Given the description of an element on the screen output the (x, y) to click on. 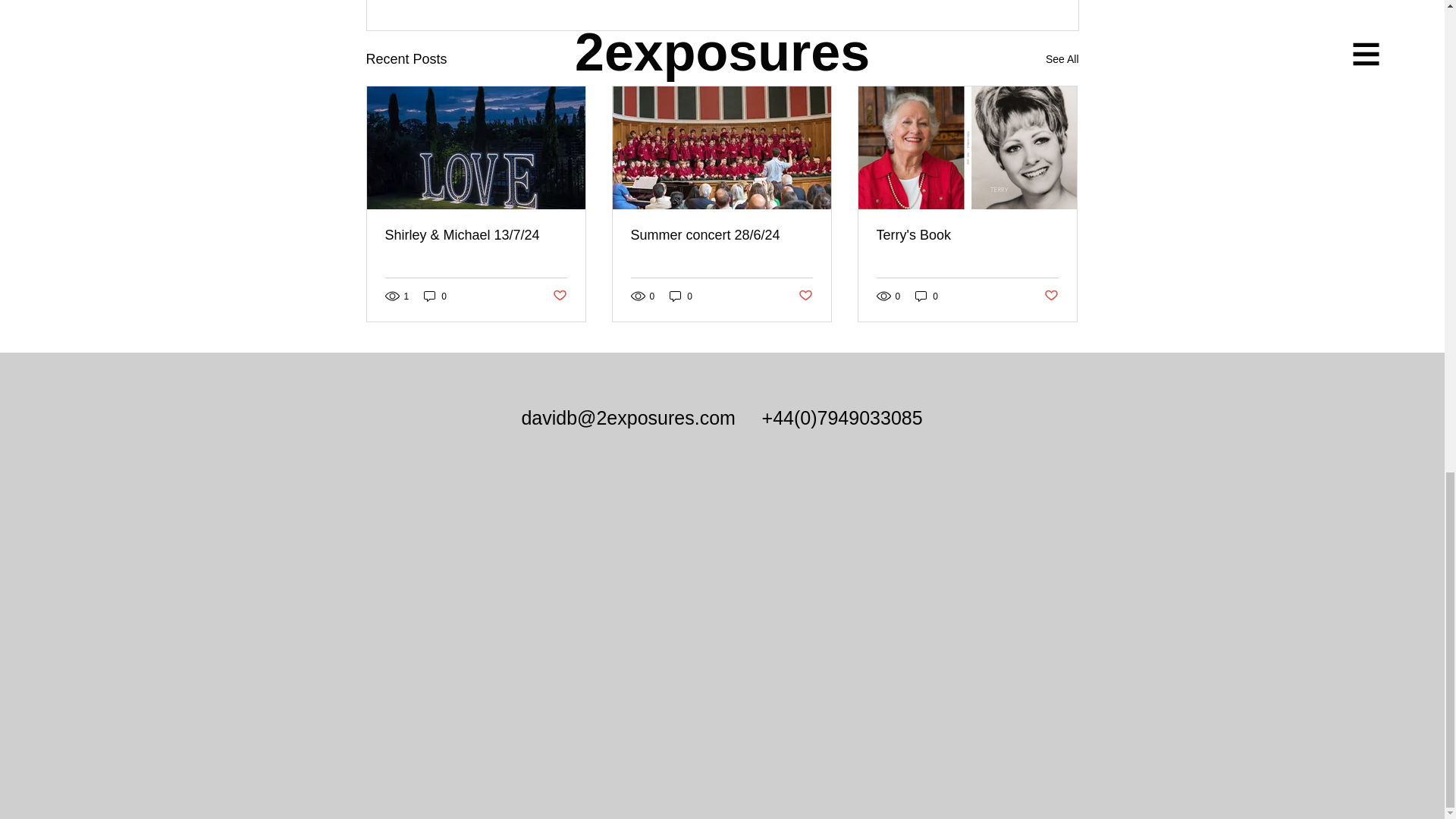
Post not marked as liked (1050, 295)
Post not marked as liked (558, 295)
Terry's Book (967, 235)
0 (681, 296)
See All (1061, 59)
0 (435, 296)
0 (926, 296)
Post not marked as liked (804, 295)
